Given the description of an element on the screen output the (x, y) to click on. 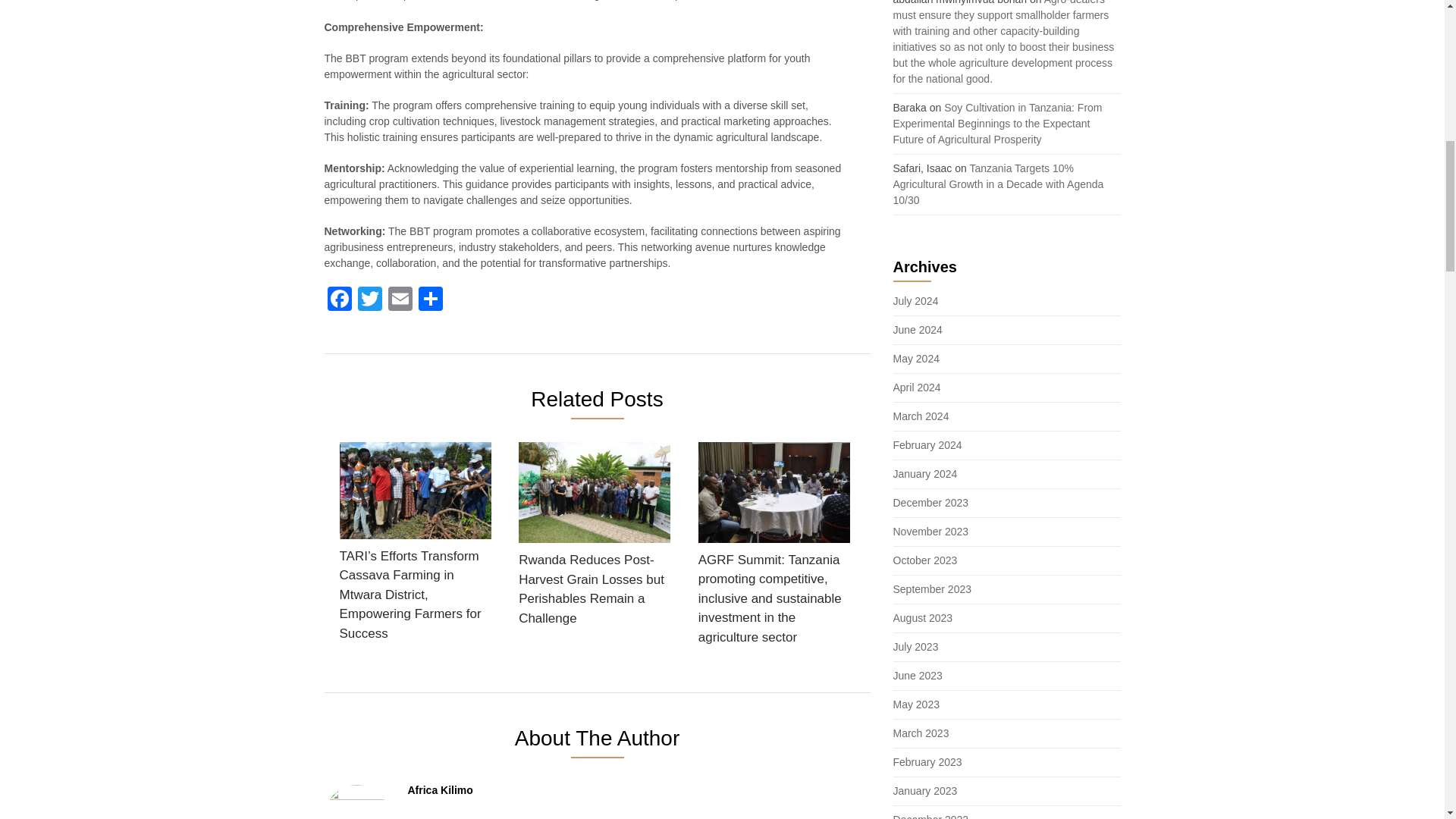
Email (399, 300)
Facebook (339, 300)
Twitter (370, 300)
Share (429, 300)
Twitter (370, 300)
Email (399, 300)
Facebook (339, 300)
